Given the description of an element on the screen output the (x, y) to click on. 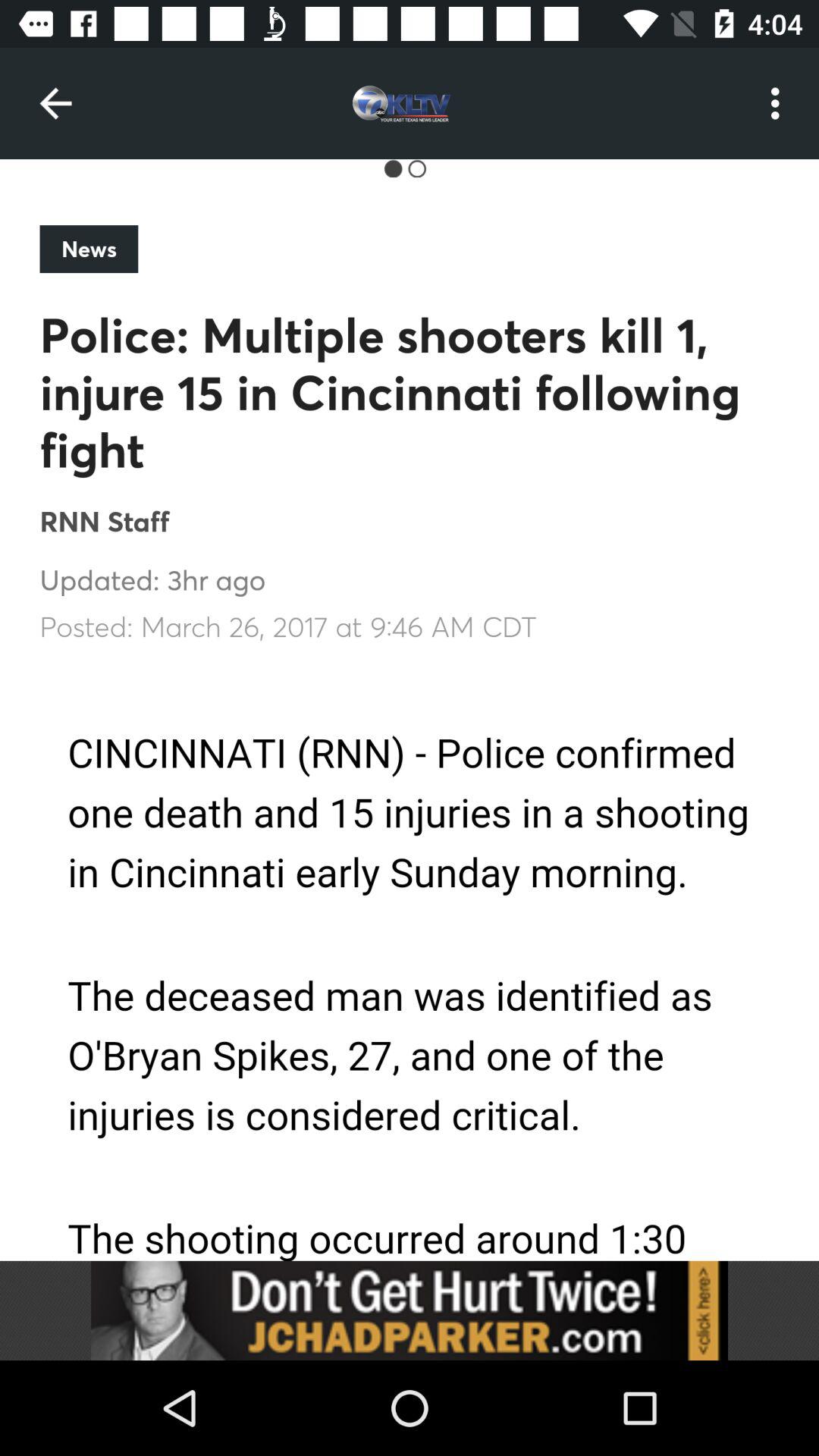
advertisement page (409, 962)
